Given the description of an element on the screen output the (x, y) to click on. 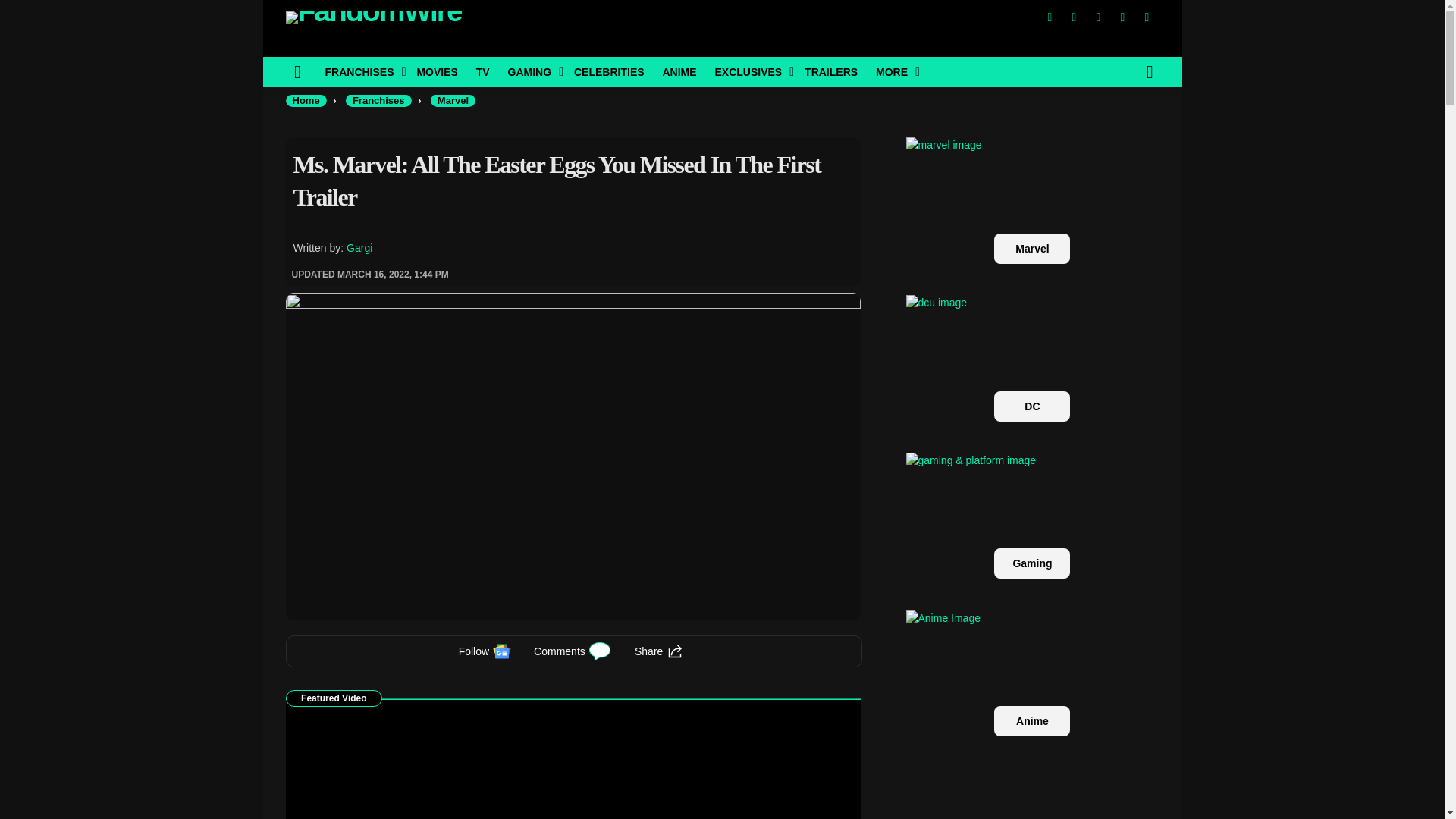
Twitter (1073, 17)
MORE (893, 71)
GAMING (532, 71)
Insta (1097, 17)
EXCLUSIVES (749, 71)
FRANCHISES (361, 71)
LinkedIn (1121, 17)
YT (1146, 17)
TV (482, 71)
Menu (296, 71)
CELEBRITIES (609, 71)
TRAILERS (830, 71)
Facebook (1048, 17)
MOVIES (436, 71)
ANIME (678, 71)
